Given the description of an element on the screen output the (x, y) to click on. 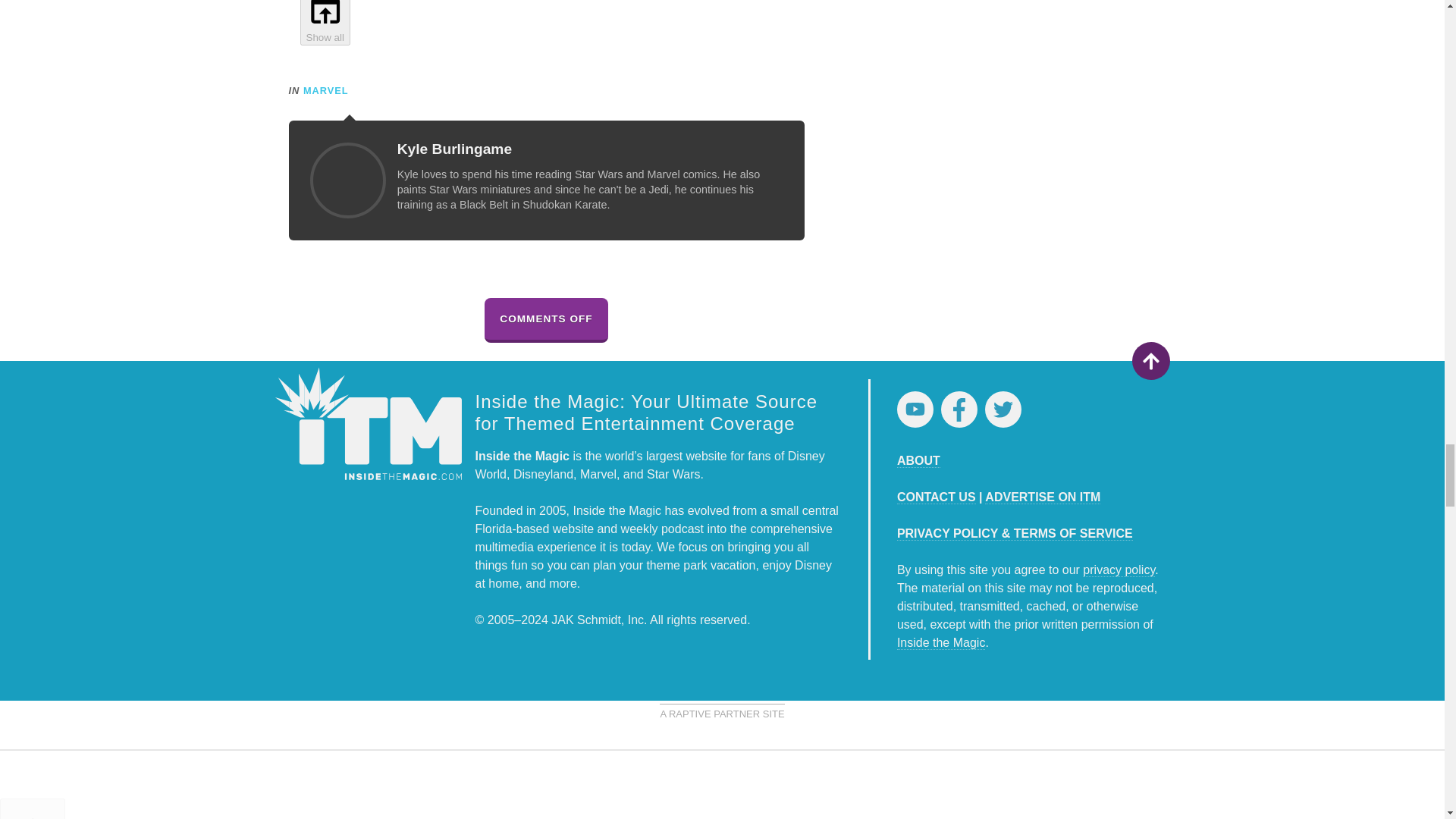
Return to Top (1150, 361)
